Given the description of an element on the screen output the (x, y) to click on. 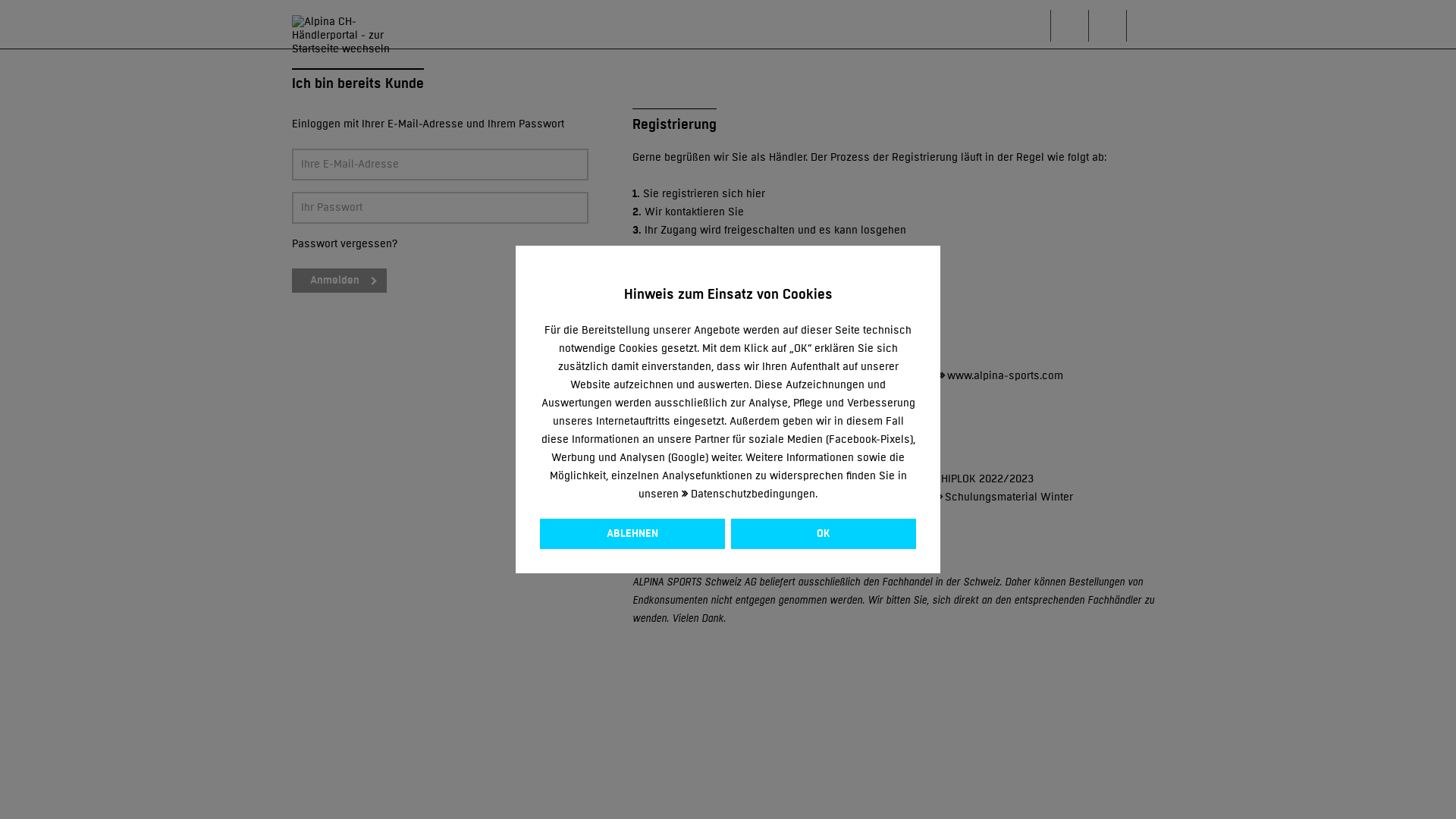
Schulungsmaterial Winter Element type: text (1004, 497)
www.alpina-sports.com Element type: text (1000, 375)
Anmelden Element type: text (338, 280)
Bike 2023 Element type: text (756, 478)
Schulungsmaterial Eyewear Element type: text (705, 497)
info@alpina-sports.ch Element type: text (861, 375)
>> Zur Registrierung Element type: text (681, 266)
HIPLOK 2022/2023 Element type: text (982, 478)
ALPINA Winter 23/24 Element type: text (858, 478)
Datenschutzbedingungen Element type: text (747, 494)
ABLEHNEN Element type: text (631, 533)
Schulungsmaterial Bike Element type: text (858, 497)
Mein Konto Element type: hover (1110, 23)
OK Element type: text (823, 533)
Eyewear 2023 Element type: text (670, 478)
Passwort vergessen? Element type: text (344, 243)
